Given the description of an element on the screen output the (x, y) to click on. 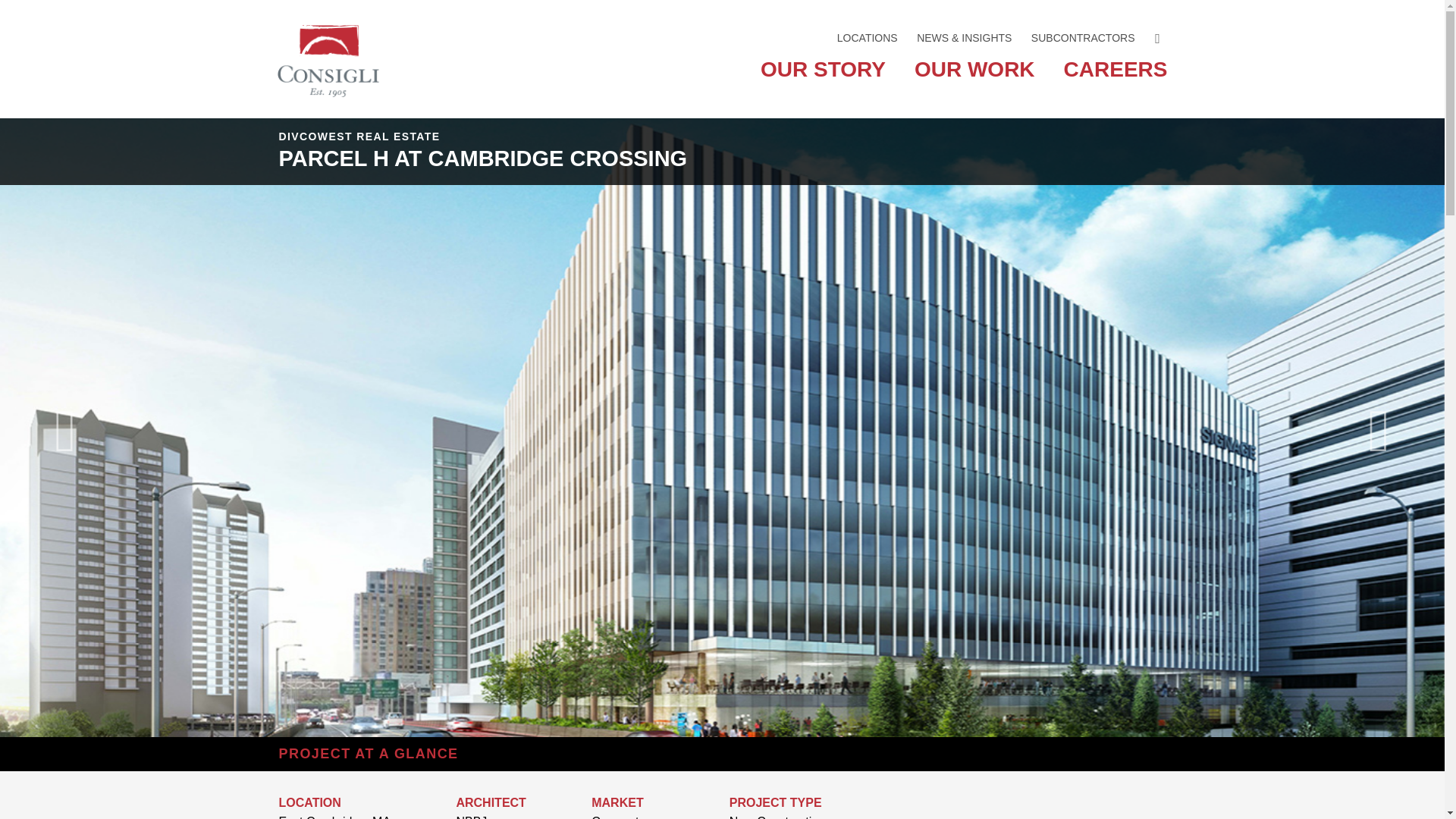
OUR STORY (822, 79)
SUBCONTRACTORS (1082, 37)
LOCATIONS (866, 37)
OUR WORK (974, 79)
Consigli Construction (328, 31)
